Given the description of an element on the screen output the (x, y) to click on. 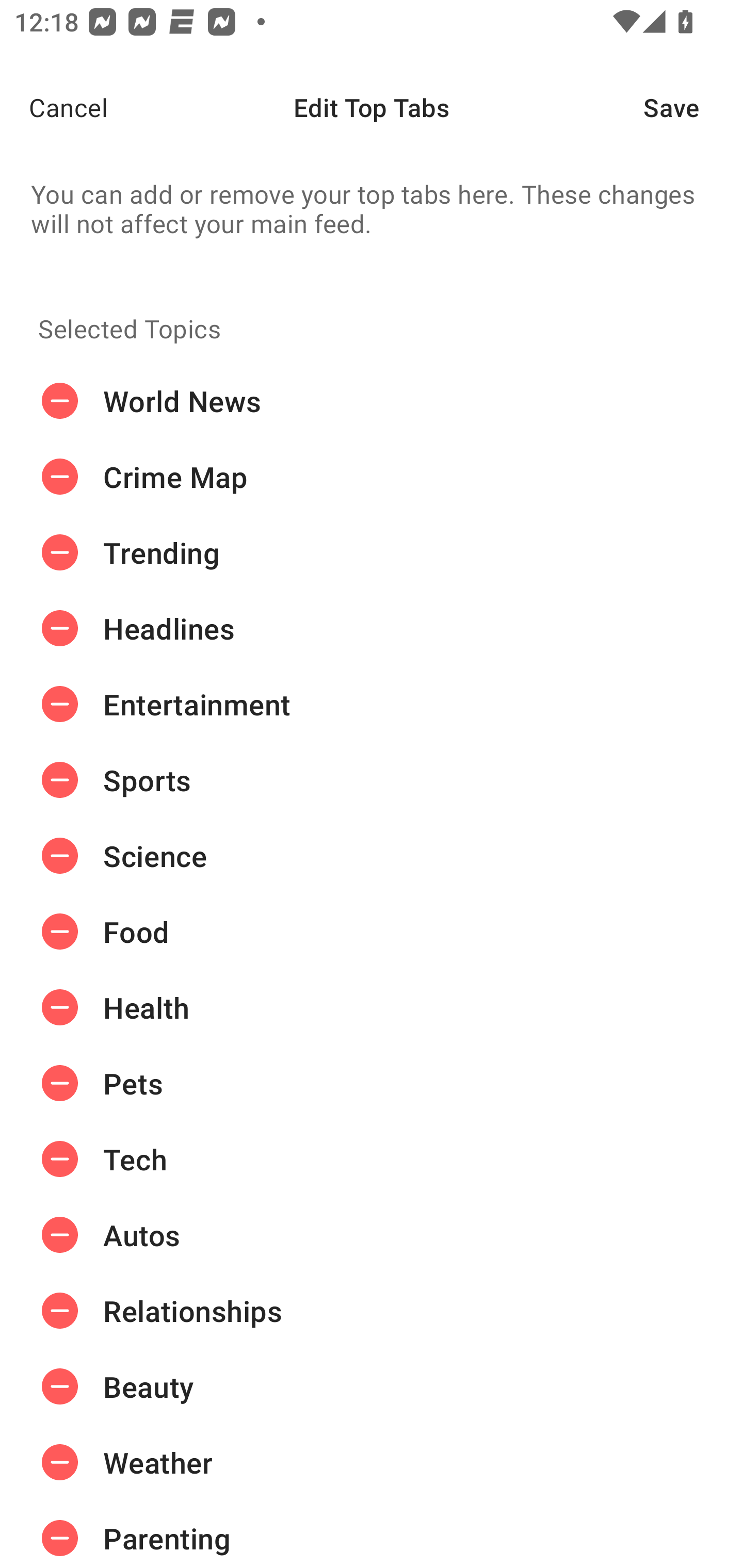
Cancel (53, 106)
Save (693, 106)
World News (371, 401)
Crime Map (371, 476)
Trending (371, 552)
Headlines (371, 628)
Entertainment (371, 703)
Sports (371, 779)
Science (371, 855)
Food (371, 931)
Health (371, 1007)
Pets (371, 1083)
Tech (371, 1158)
Autos (371, 1234)
Relationships (371, 1310)
Beauty (371, 1386)
Weather (371, 1462)
Parenting (371, 1534)
